Given the description of an element on the screen output the (x, y) to click on. 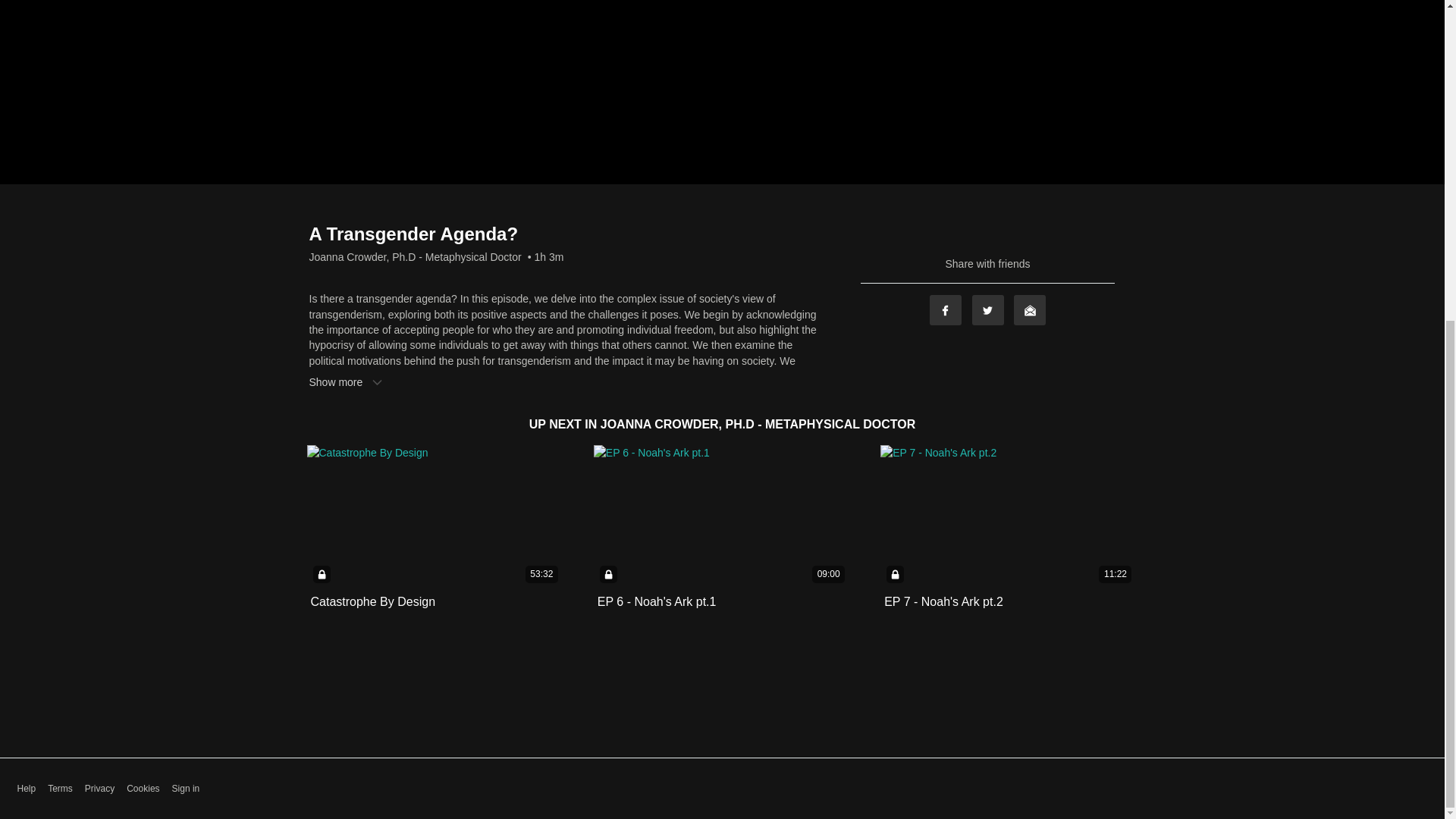
09:00 (722, 516)
Facebook (945, 309)
Help (25, 788)
11:22 (1008, 516)
EP 6 - Noah's Ark pt.1 (656, 602)
Twitter (988, 309)
EP 6 - Noah's Ark pt.1 (656, 601)
Cookies (142, 788)
Sign in (185, 788)
JOANNA CROWDER, PH.D - METAPHYSICAL DOCTOR (757, 423)
